Given the description of an element on the screen output the (x, y) to click on. 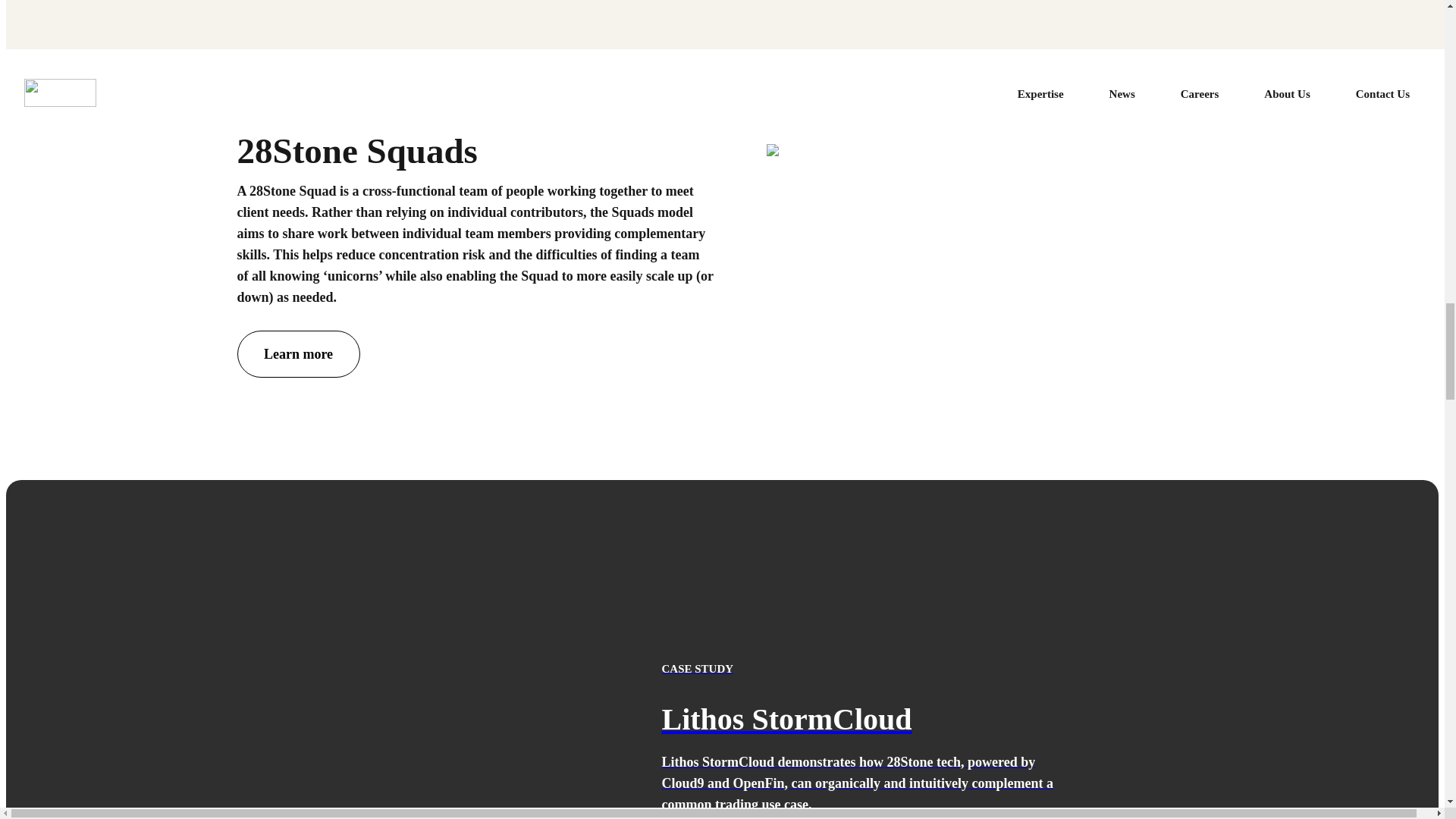
Learn more (297, 353)
